Given the description of an element on the screen output the (x, y) to click on. 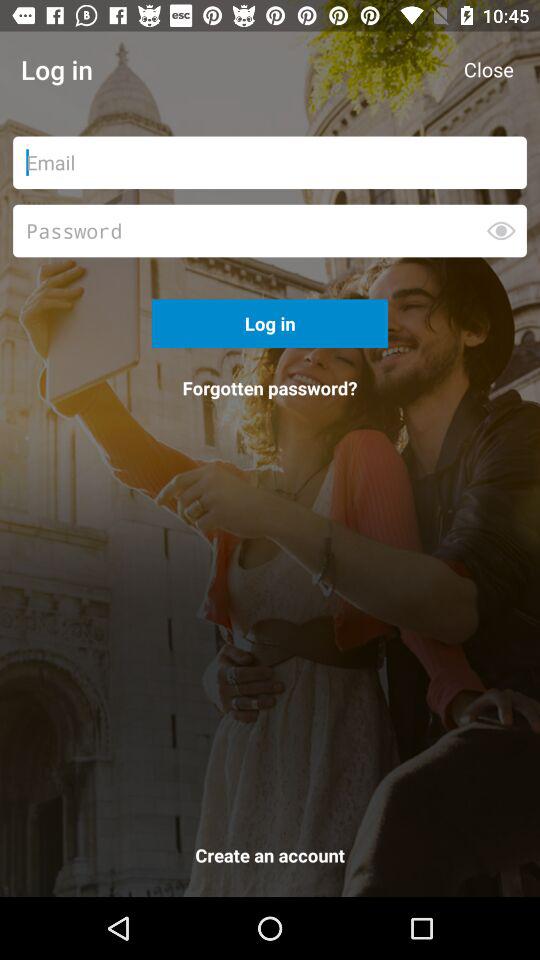
turn off the create an account icon (269, 859)
